Given the description of an element on the screen output the (x, y) to click on. 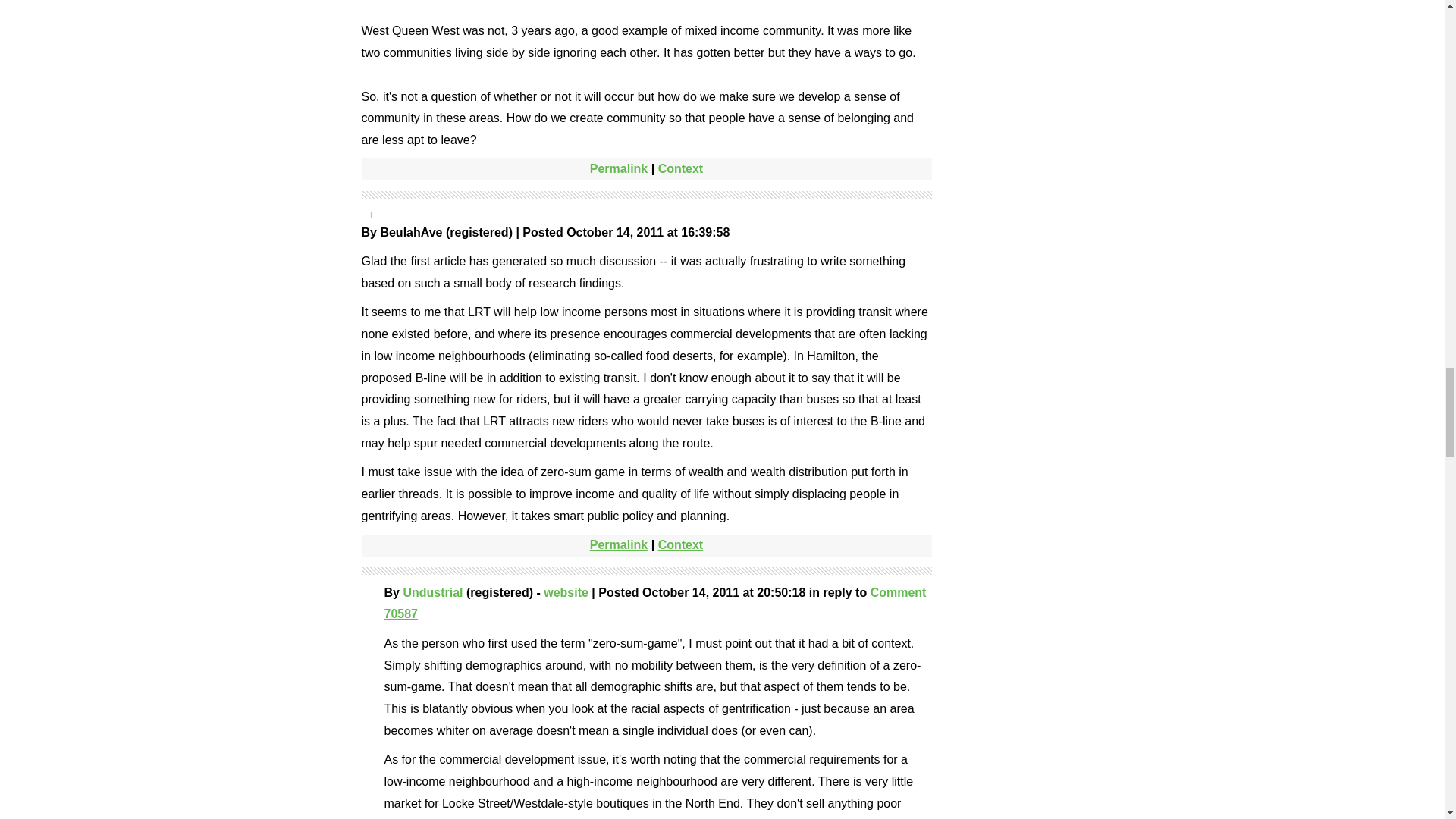
Undustrial (433, 592)
website (565, 592)
Permalink (618, 544)
Context (680, 168)
Permalink (618, 168)
Context (680, 544)
